Given the description of an element on the screen output the (x, y) to click on. 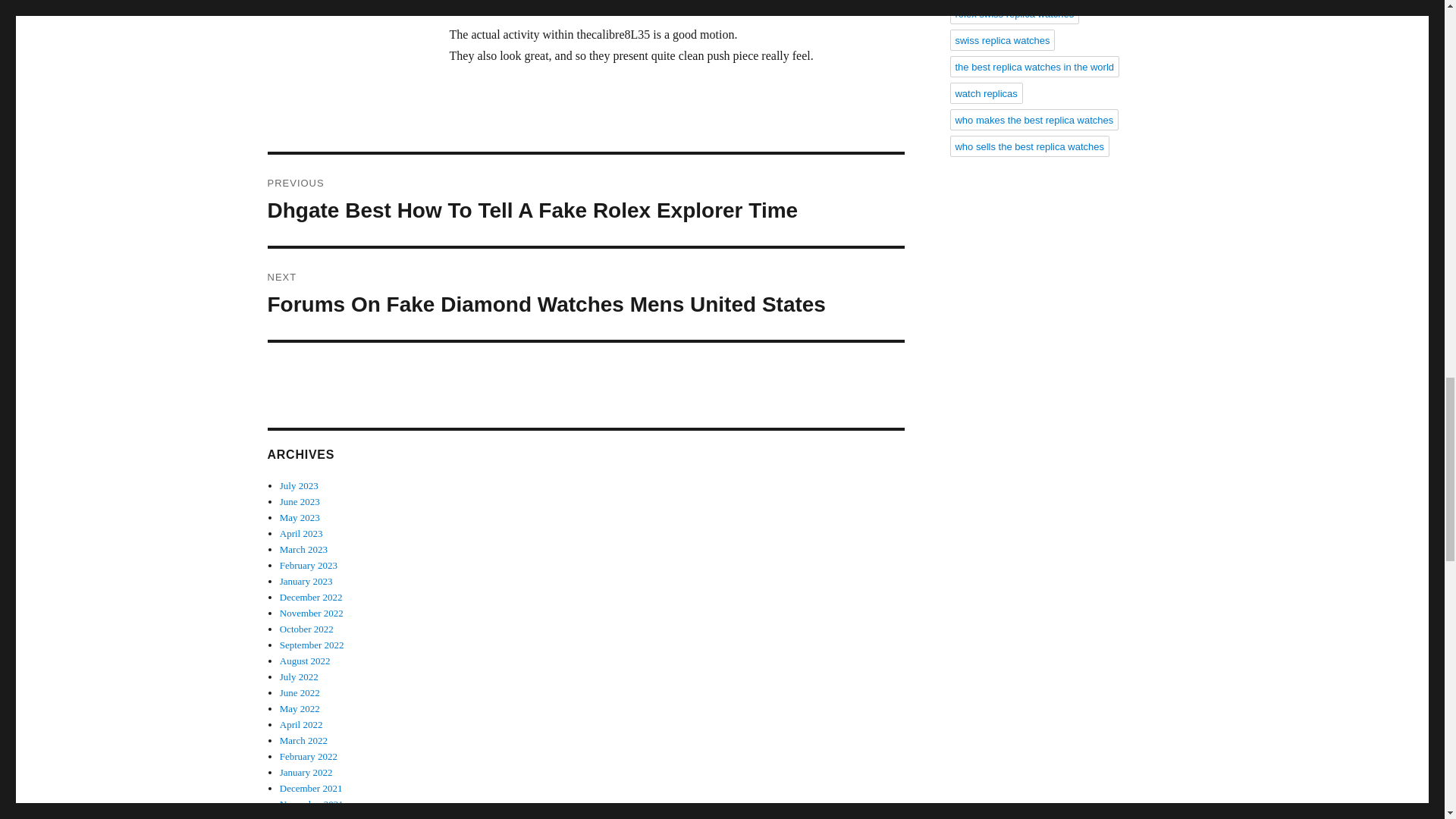
September 2022 (311, 644)
November 2022 (311, 613)
January 2023 (306, 581)
June 2022 (299, 692)
February 2022 (308, 756)
January 2022 (306, 772)
July 2023 (298, 485)
February 2023 (308, 564)
March 2023 (303, 549)
December 2021 (310, 787)
